Given the description of an element on the screen output the (x, y) to click on. 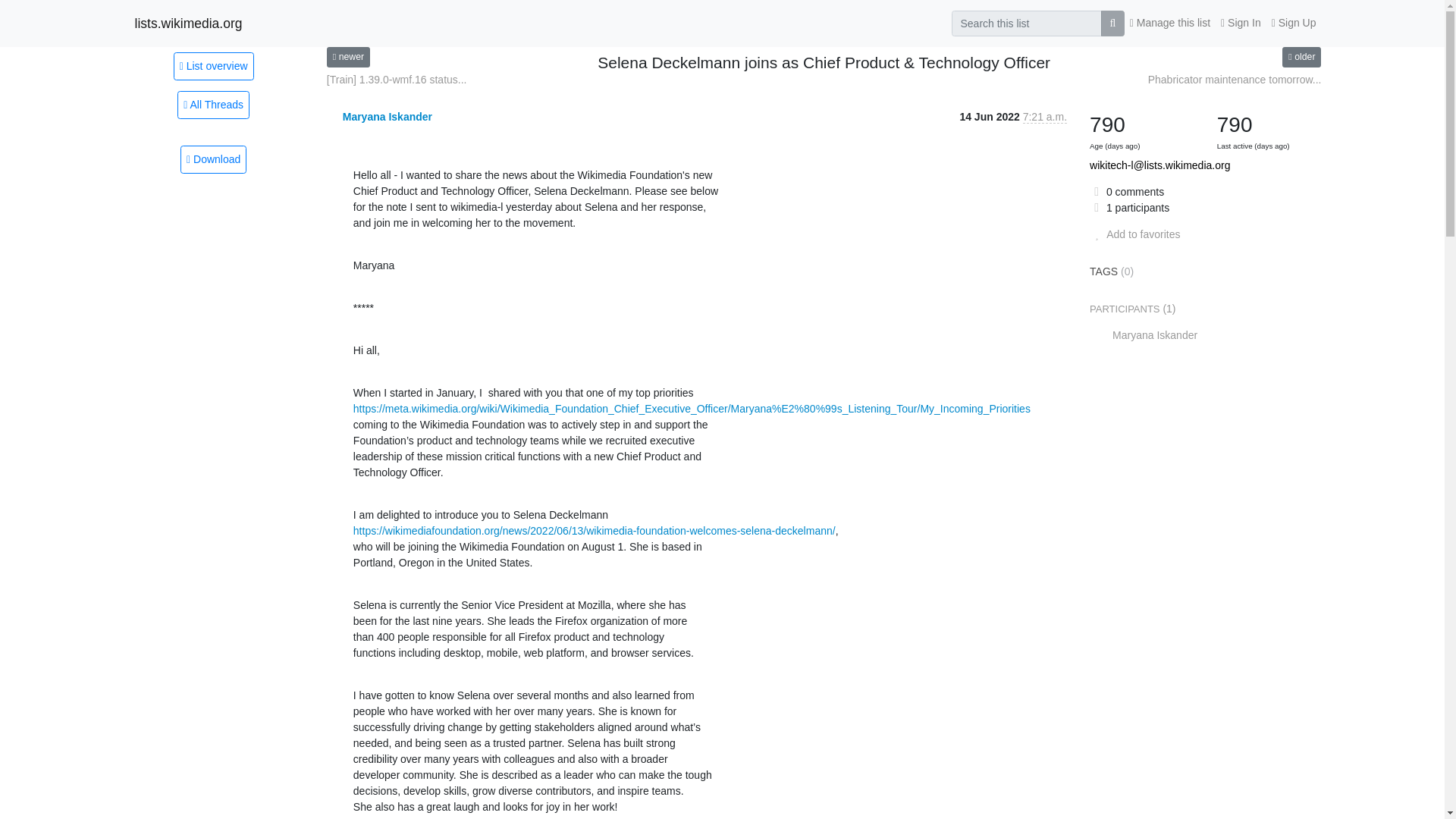
older (1301, 56)
Manage this list (1169, 22)
All Threads (212, 104)
Sign In (1240, 22)
Phabricator maintenance tomorrow... (1235, 79)
See the profile for Maryana Iskander (387, 116)
You must be logged-in to have favorites. (1134, 234)
Sender's time: June 14, 2022, 7:21 a.m. (1045, 116)
This thread in gzipped mbox format (213, 159)
List overview (213, 65)
